Given the description of an element on the screen output the (x, y) to click on. 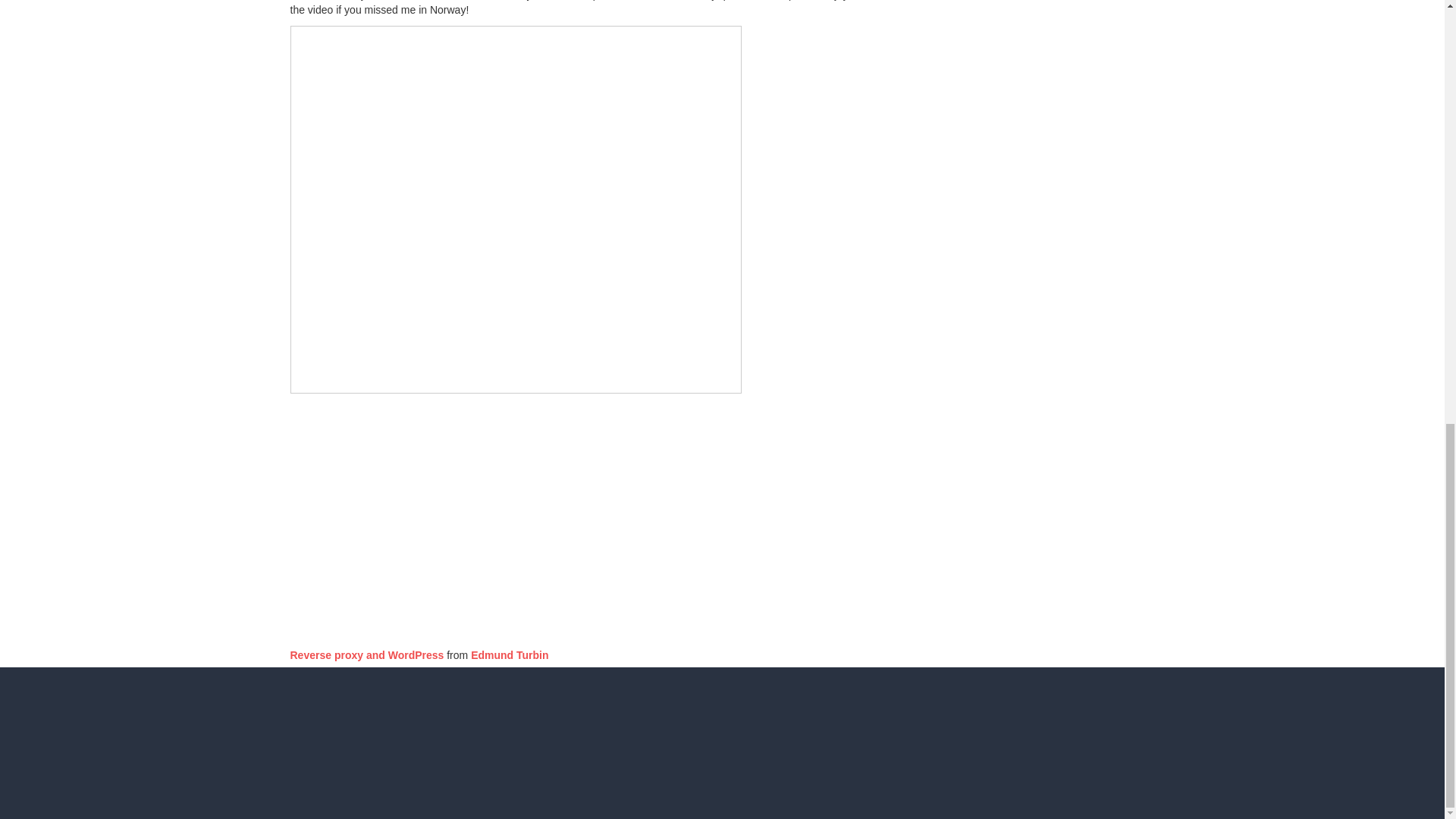
Reverse proxy and WordPress (366, 654)
Edmund Turbin (509, 654)
WordPress and Reverse Proxy (478, 515)
Reverse proxy and WordPress (366, 654)
